Given the description of an element on the screen output the (x, y) to click on. 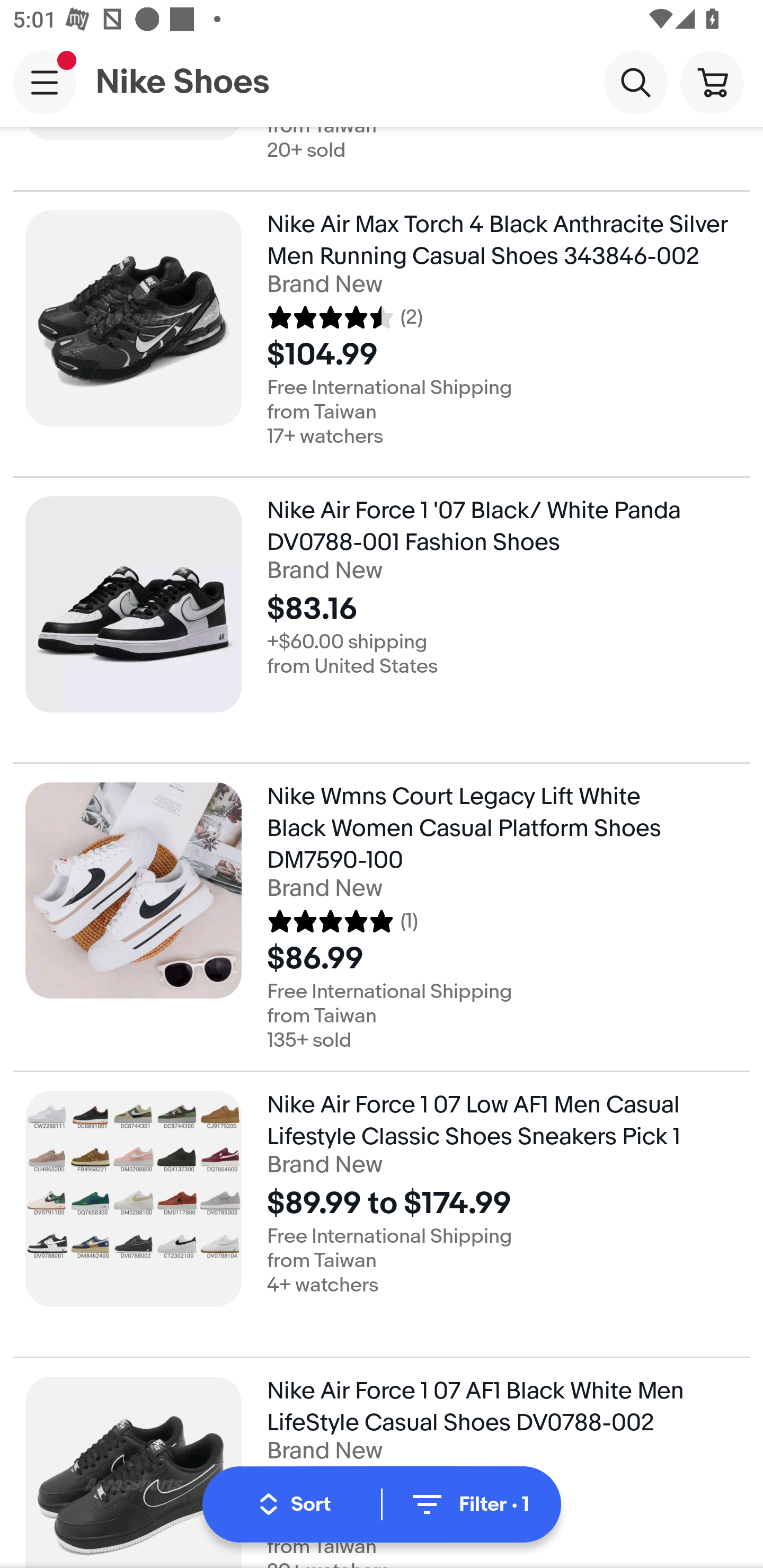
Main navigation, open (44, 82)
Search (635, 81)
Cart button shopping cart (711, 81)
Sort (294, 1504)
Filter • 1 (468, 1504)
